Given the description of an element on the screen output the (x, y) to click on. 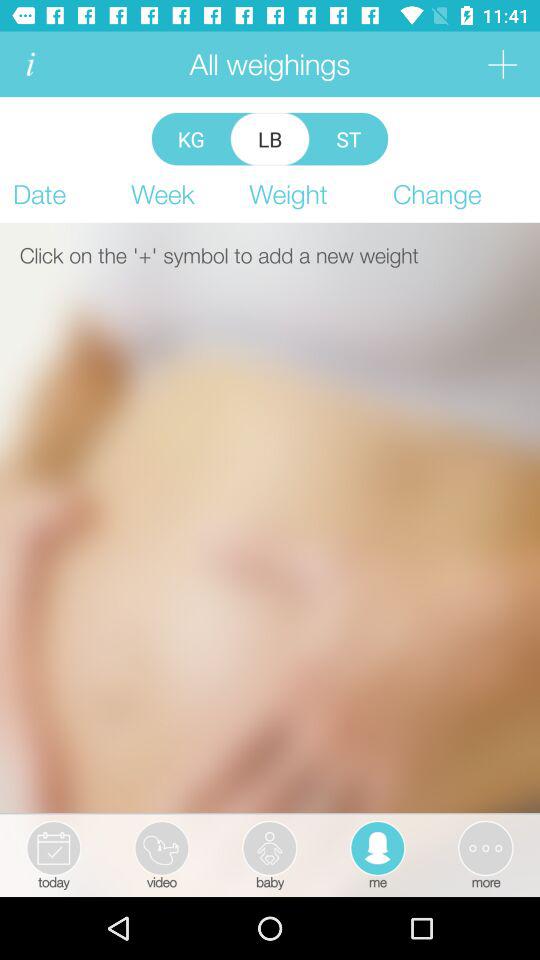
press icon to the right of the kg (269, 138)
